Given the description of an element on the screen output the (x, y) to click on. 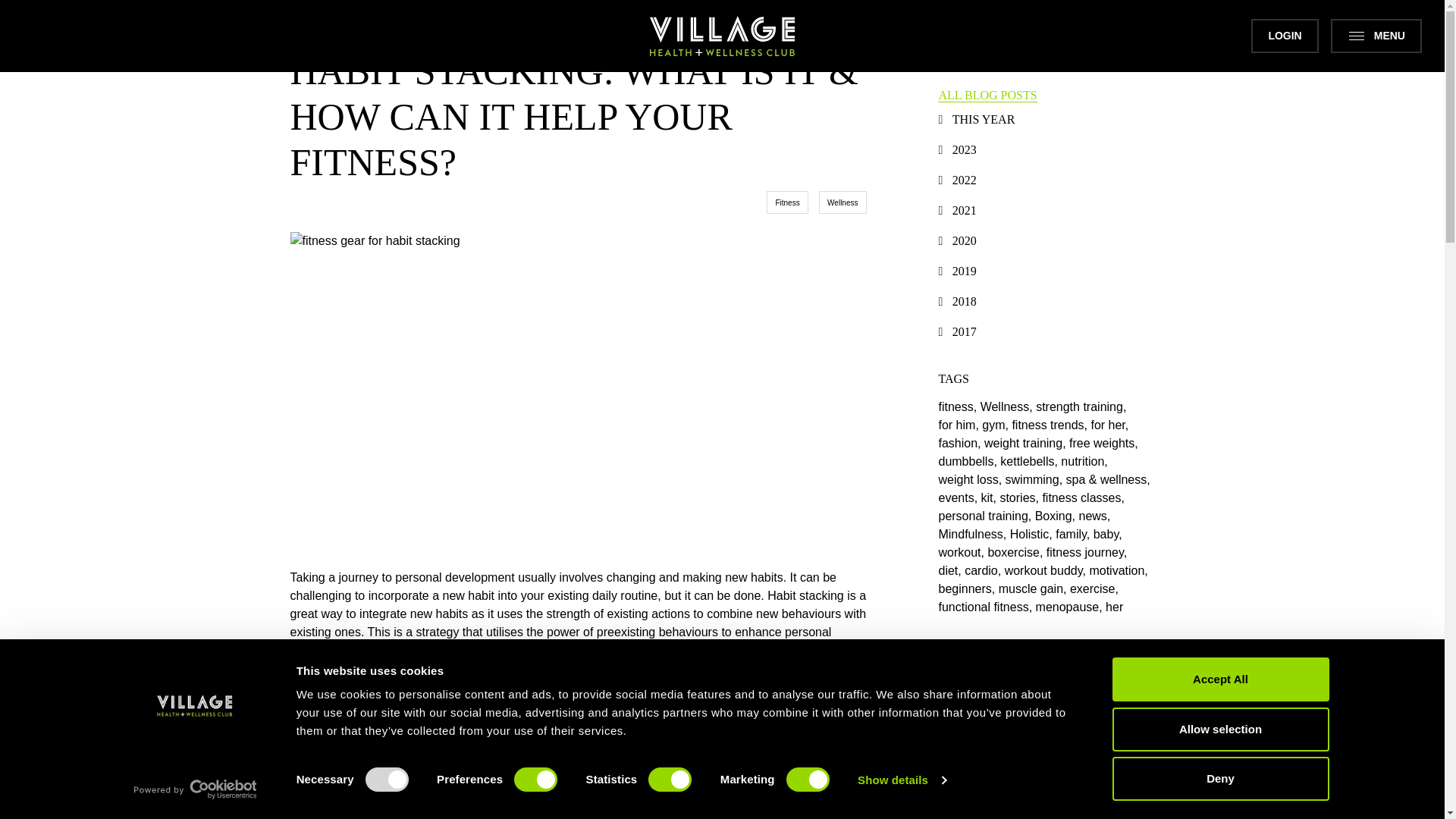
Show details (900, 780)
